Given the description of an element on the screen output the (x, y) to click on. 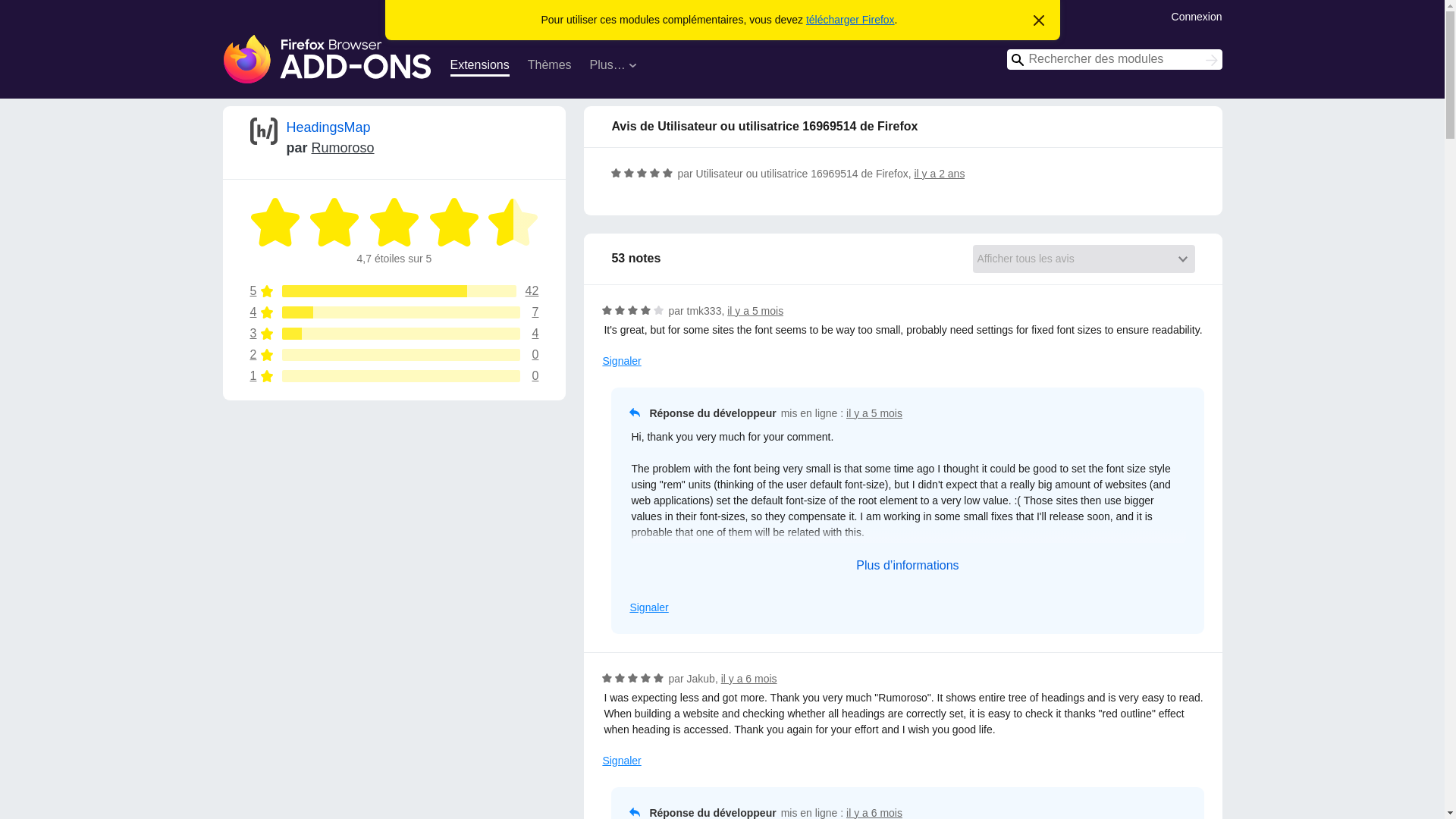
il y a 5 mois (394, 354)
il y a 5 mois (754, 310)
Modules pour le navigateur Firefox (394, 376)
il y a 6 mois (873, 413)
Rechercher (394, 333)
Extensions (327, 59)
Signaler (873, 812)
Rumoroso (1212, 61)
Cacher ce message (479, 66)
il y a 2 ans (648, 607)
Signaler (342, 147)
